Given the description of an element on the screen output the (x, y) to click on. 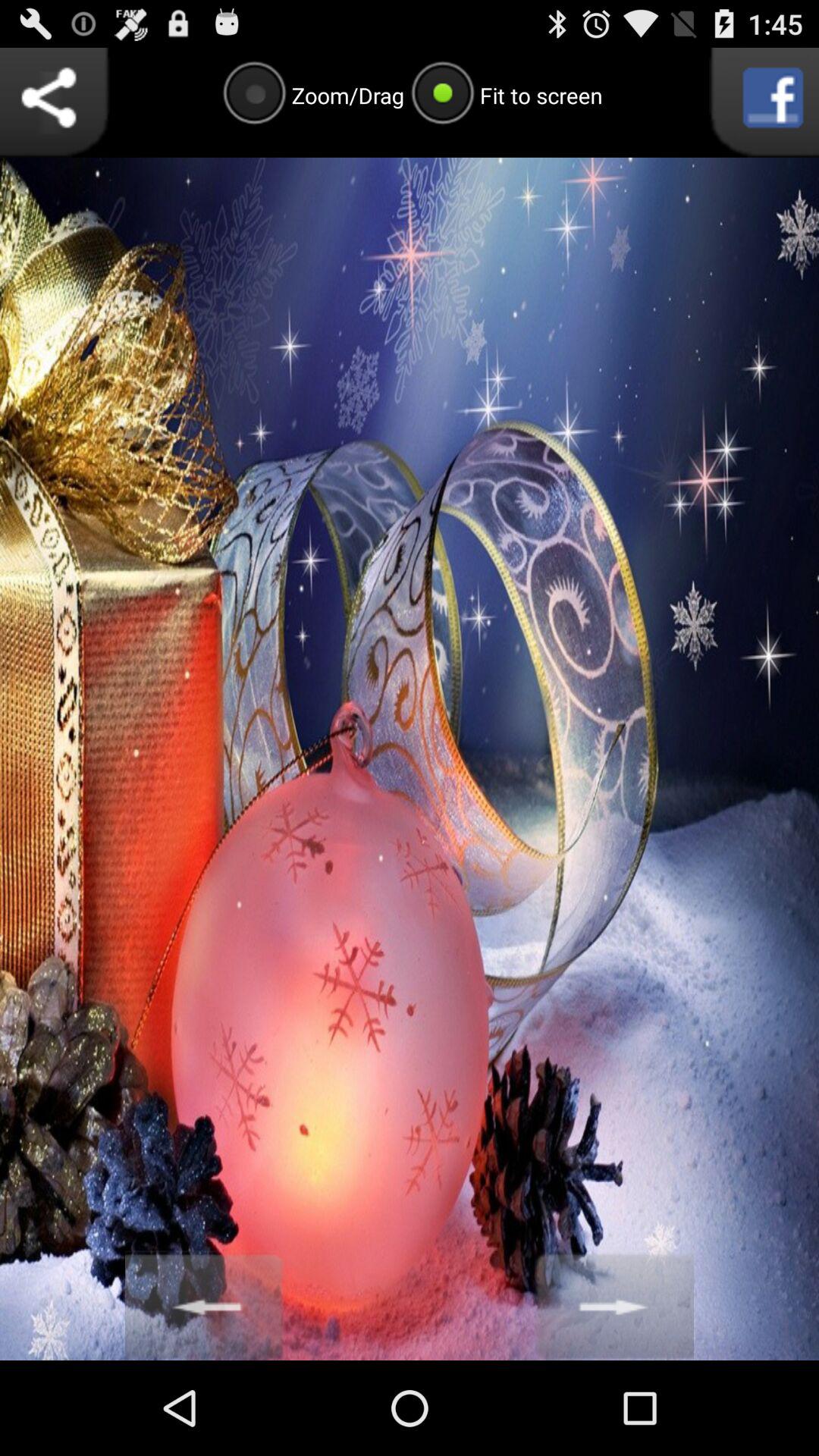
facebook button (764, 102)
